Given the description of an element on the screen output the (x, y) to click on. 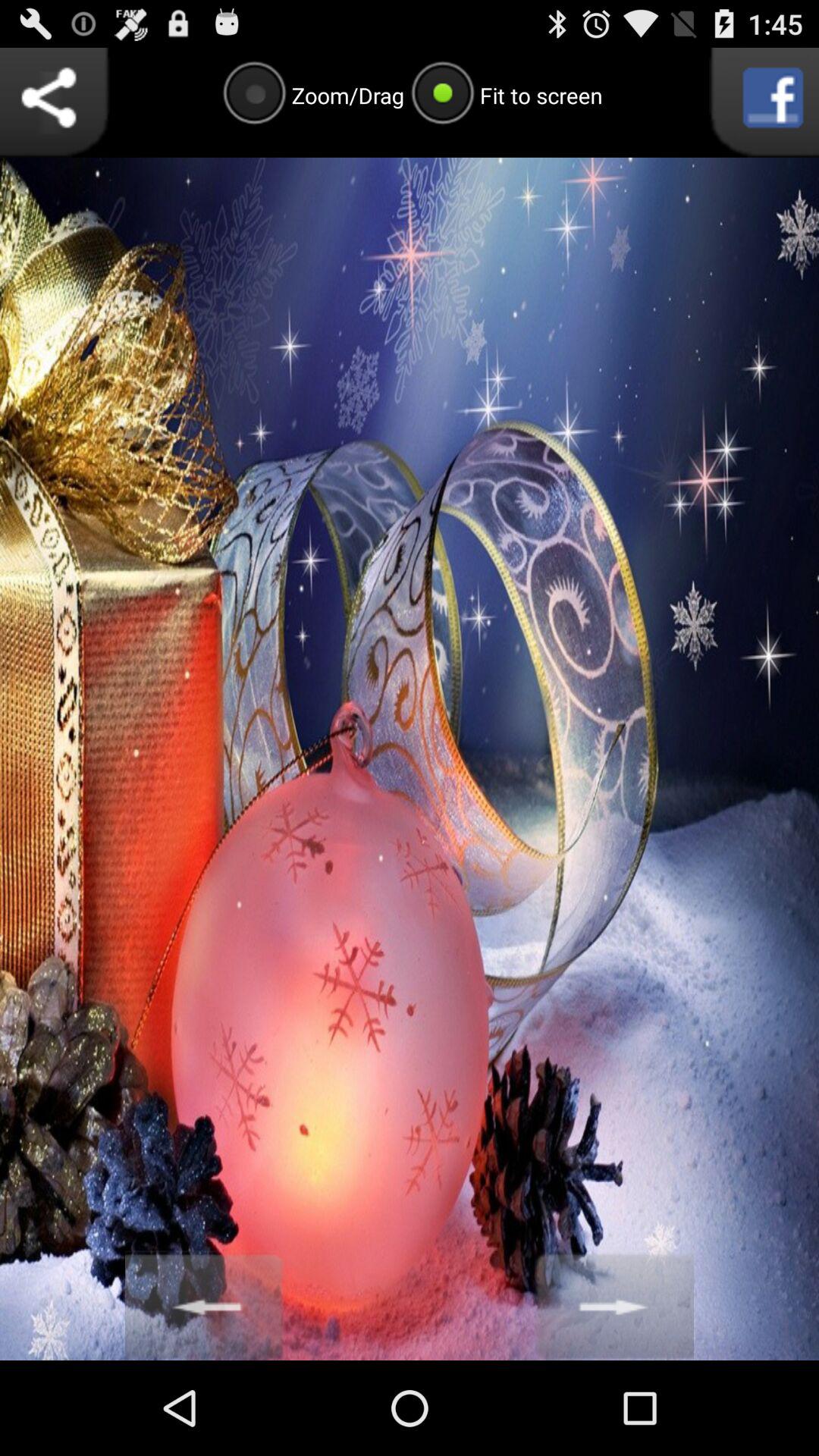
facebook button (764, 102)
